Given the description of an element on the screen output the (x, y) to click on. 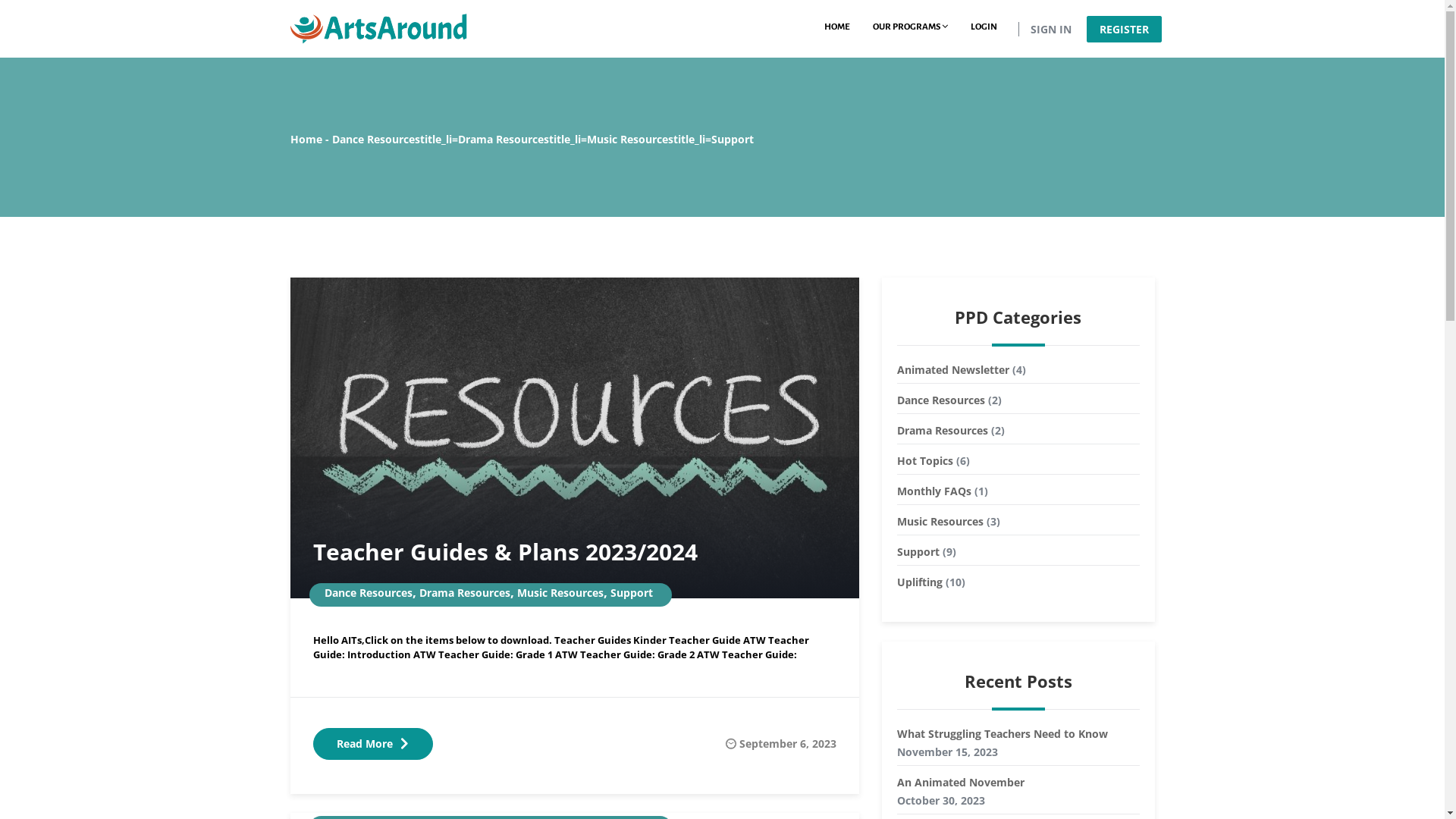
Support Element type: text (732, 138)
What Struggling Teachers Need to Know Element type: text (1017, 733)
Music Resources Element type: text (629, 138)
Drama Resources Element type: text (503, 138)
Drama Resources Element type: text (941, 430)
SIGN IN Element type: text (1051, 28)
Read More Element type: text (372, 743)
Dance Resources Element type: text (940, 400)
September 6, 2023 Element type: text (786, 743)
Teacher Guides & Plans 2023/2024 Element type: text (504, 551)
Dance Resources Element type: text (368, 592)
Dance Resources Element type: text (376, 138)
Support Element type: text (630, 592)
Home Element type: text (305, 138)
Hot Topics Element type: text (924, 460)
Drama Resources Element type: text (463, 592)
Music Resources Element type: text (939, 521)
Monthly FAQs Element type: text (933, 491)
Uplifting Element type: text (918, 582)
An Animated November Element type: text (1017, 782)
ArtsAround Education Element type: hover (377, 27)
Music Resources Element type: text (560, 592)
Support Element type: text (917, 551)
Animated Newsletter Element type: text (952, 369)
REGISTER Element type: text (1123, 28)
